Given the description of an element on the screen output the (x, y) to click on. 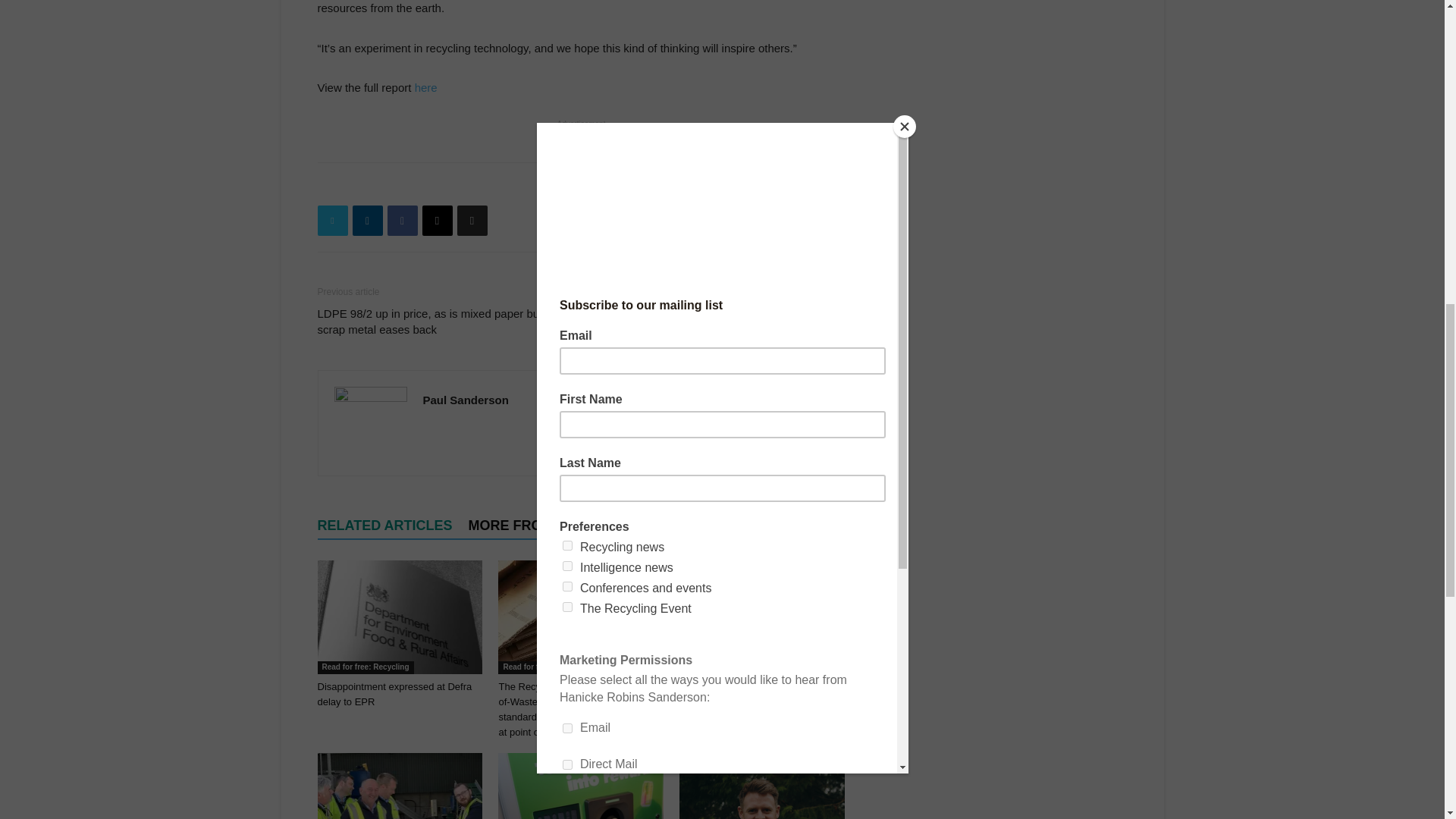
Disappointment expressed at Defra delay to EPR (394, 693)
Disappointment expressed at Defra delay to EPR (399, 617)
